Given the description of an element on the screen output the (x, y) to click on. 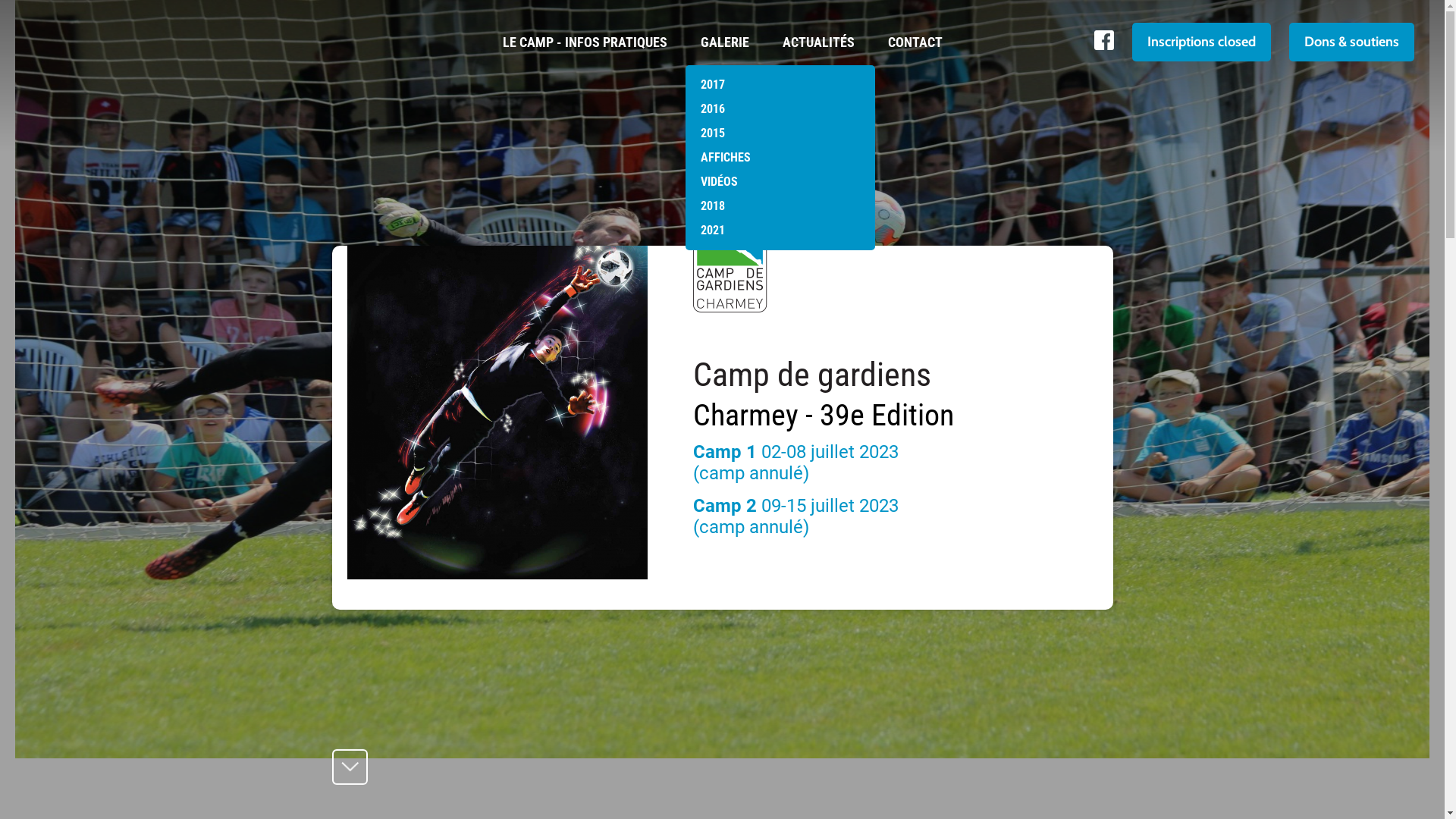
GALERIE Element type: text (724, 32)
2017 Element type: text (780, 84)
CONTACT Element type: text (914, 32)
AFFICHES Element type: text (780, 157)
2015 Element type: text (780, 133)
2021 Element type: text (780, 230)
2016 Element type: text (780, 109)
2018 Element type: text (780, 206)
Dons & soutiens Element type: text (1351, 41)
Inscriptions closed Element type: text (1201, 41)
LE CAMP - INFOS PRATIQUES Element type: text (583, 32)
